Given the description of an element on the screen output the (x, y) to click on. 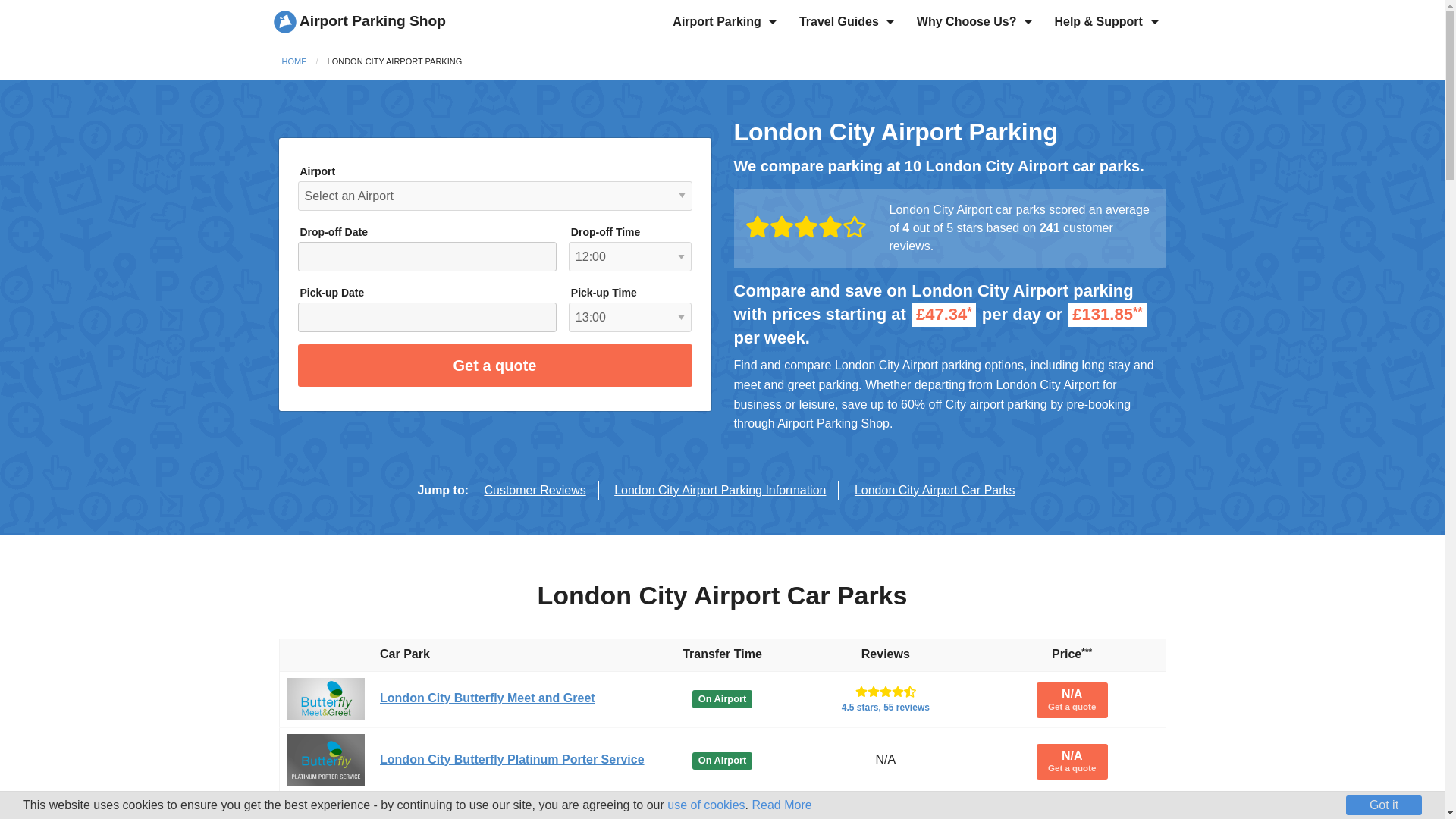
Read car park reviews from customers who've booked before (534, 490)
Airport Parking Shop (359, 20)
Get a quote (935, 490)
Airport Parking (720, 490)
